Given the description of an element on the screen output the (x, y) to click on. 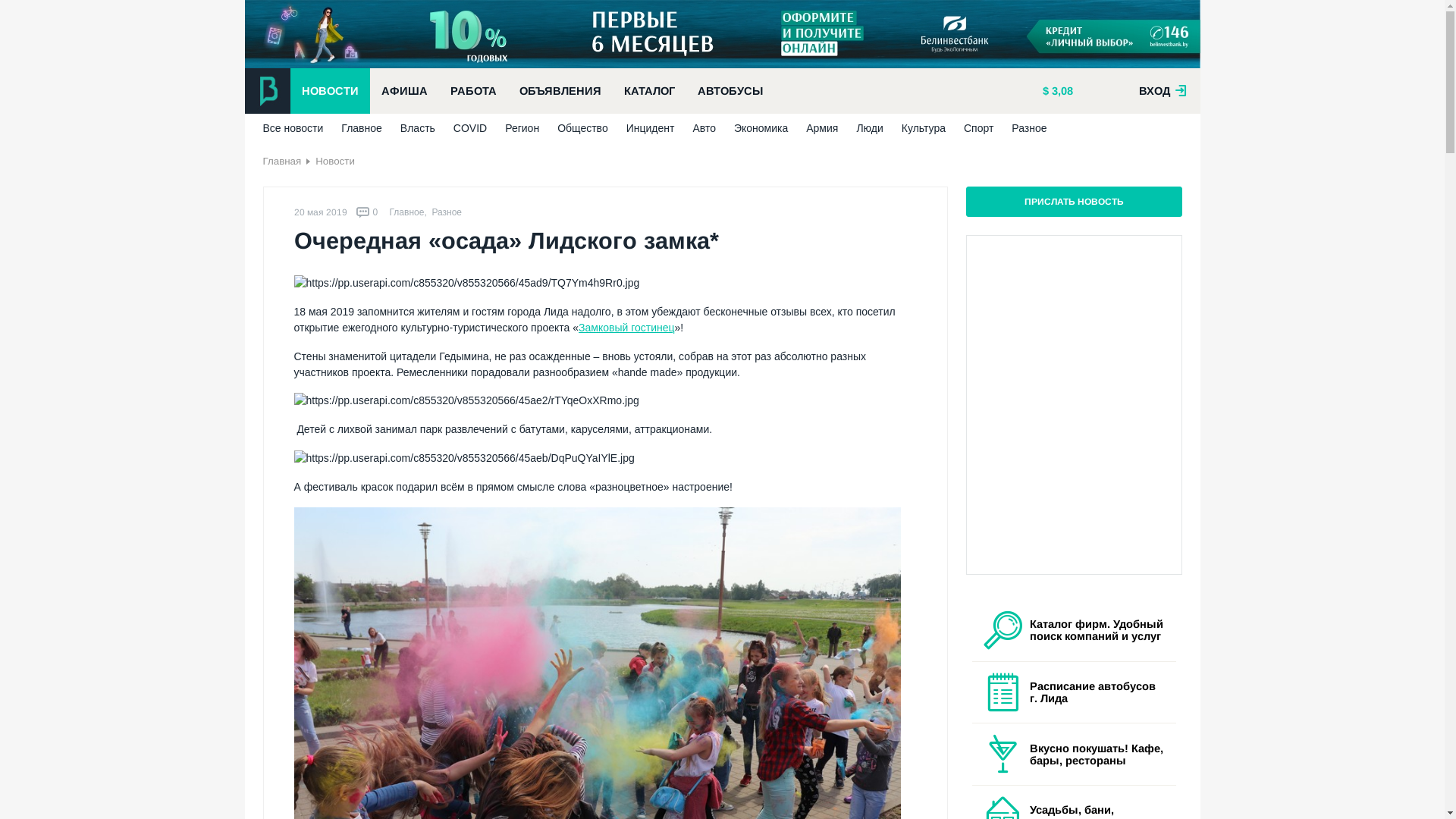
0 Element type: text (367, 212)
COVID Element type: text (469, 128)
3,08 Element type: text (1056, 90)
